Given the description of an element on the screen output the (x, y) to click on. 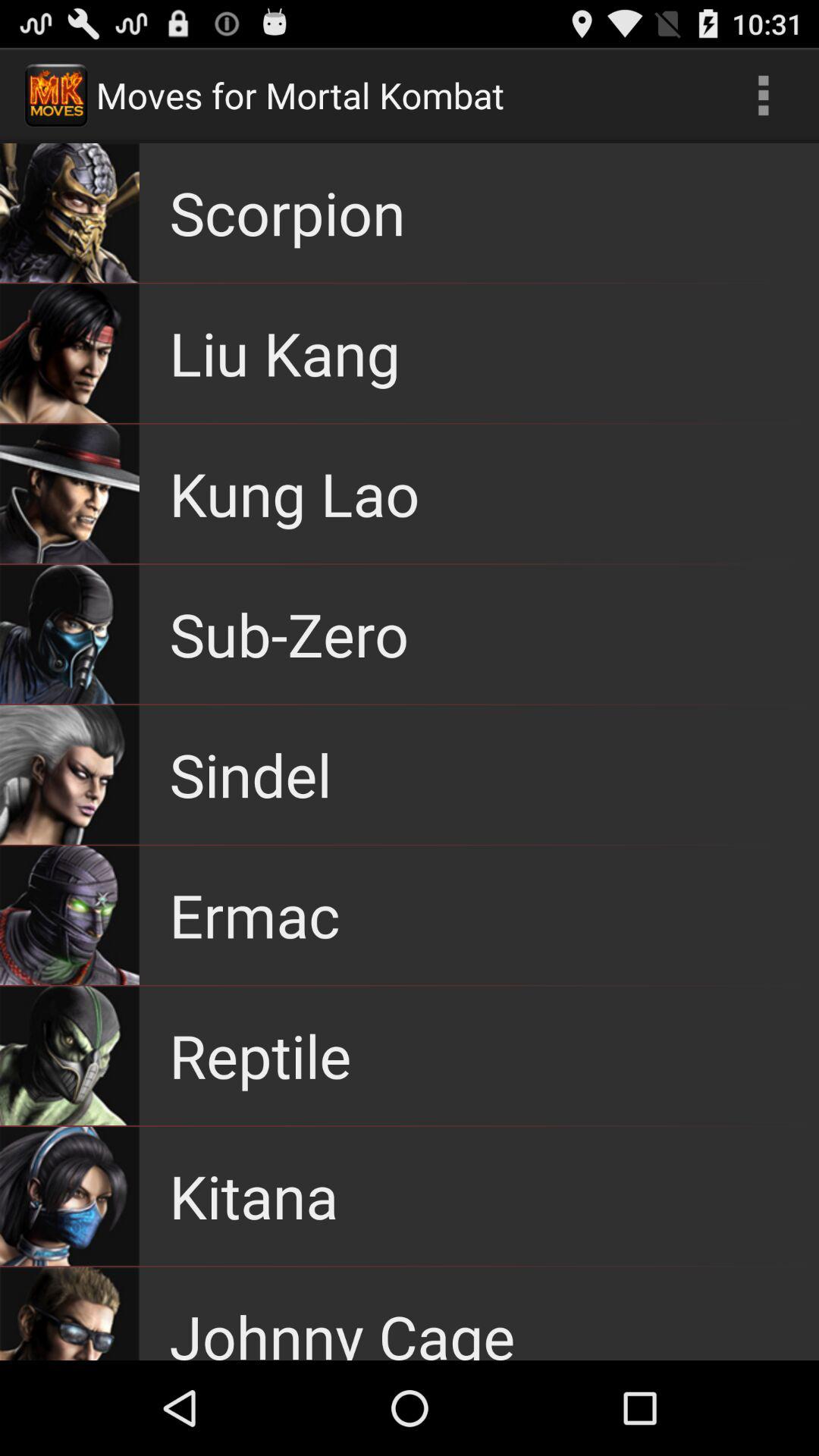
select the icon at the top right corner (763, 95)
